Given the description of an element on the screen output the (x, y) to click on. 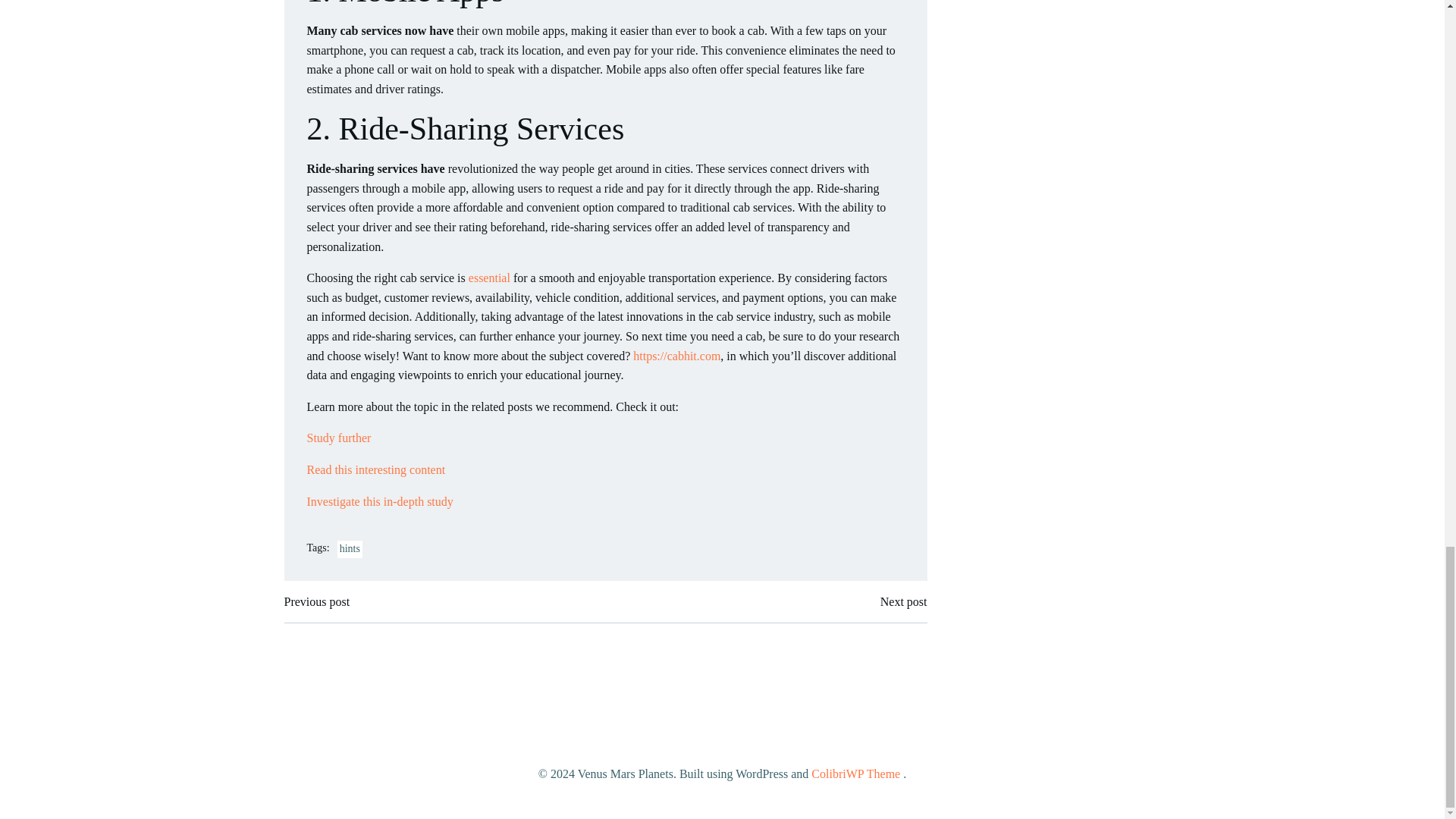
Tag: hints (349, 548)
Investigate this in-depth study (378, 501)
ColibriWP Theme (854, 773)
essential (489, 277)
Read this interesting content (375, 469)
Previous post (316, 601)
Next post (903, 601)
hints (349, 548)
Study further (338, 437)
